Given the description of an element on the screen output the (x, y) to click on. 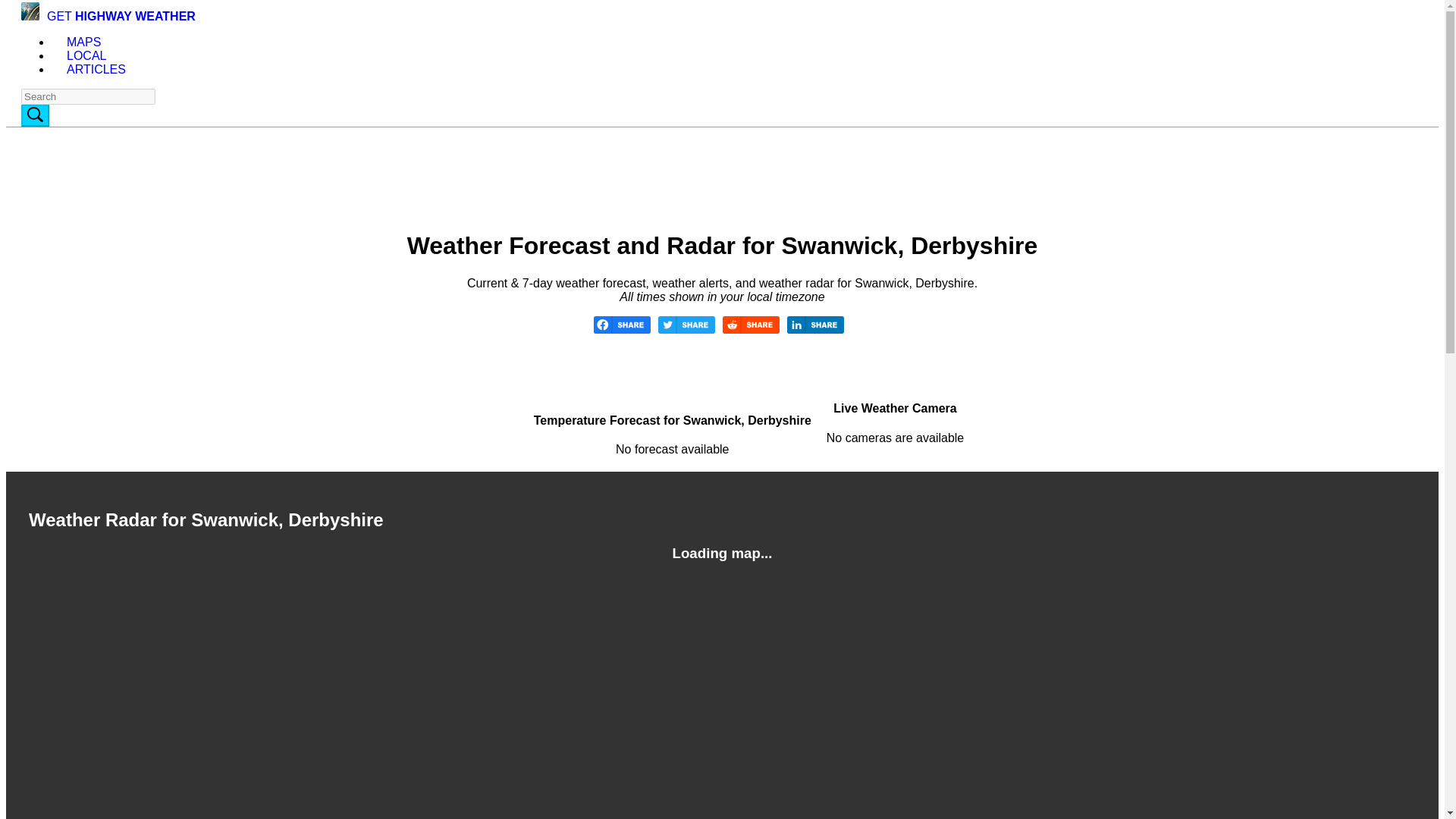
ARTICLES (102, 69)
MAPS (83, 42)
GET HIGHWAY WEATHER (108, 15)
GET HIGHWAY WEATHER (108, 15)
ARTICLES (102, 69)
LOCAL (85, 55)
LOCAL (85, 55)
MAPS (83, 42)
